Given the description of an element on the screen output the (x, y) to click on. 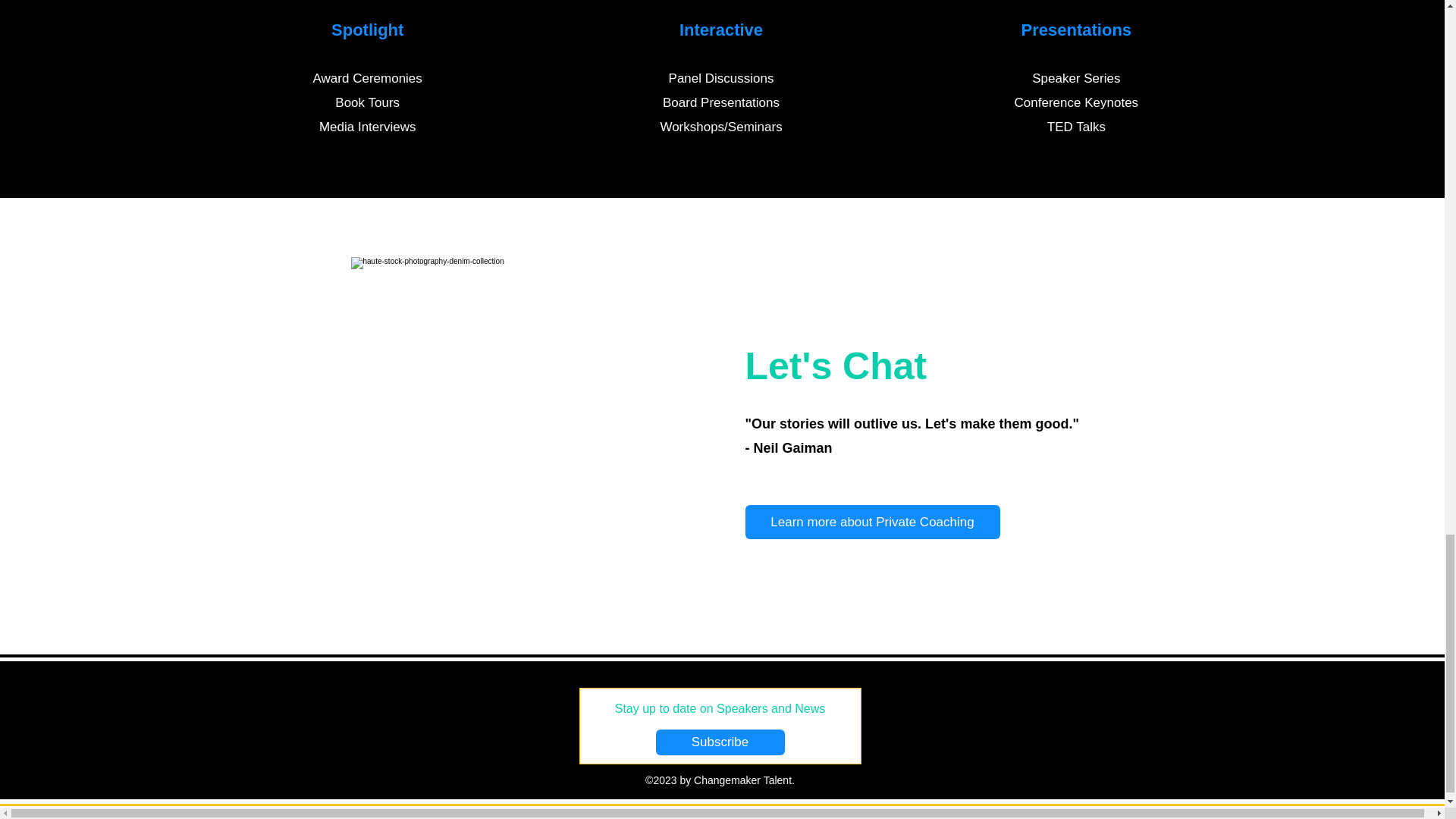
Learn more about Private Coaching (871, 521)
Subscribe (719, 742)
Let's Chat (835, 365)
